Given the description of an element on the screen output the (x, y) to click on. 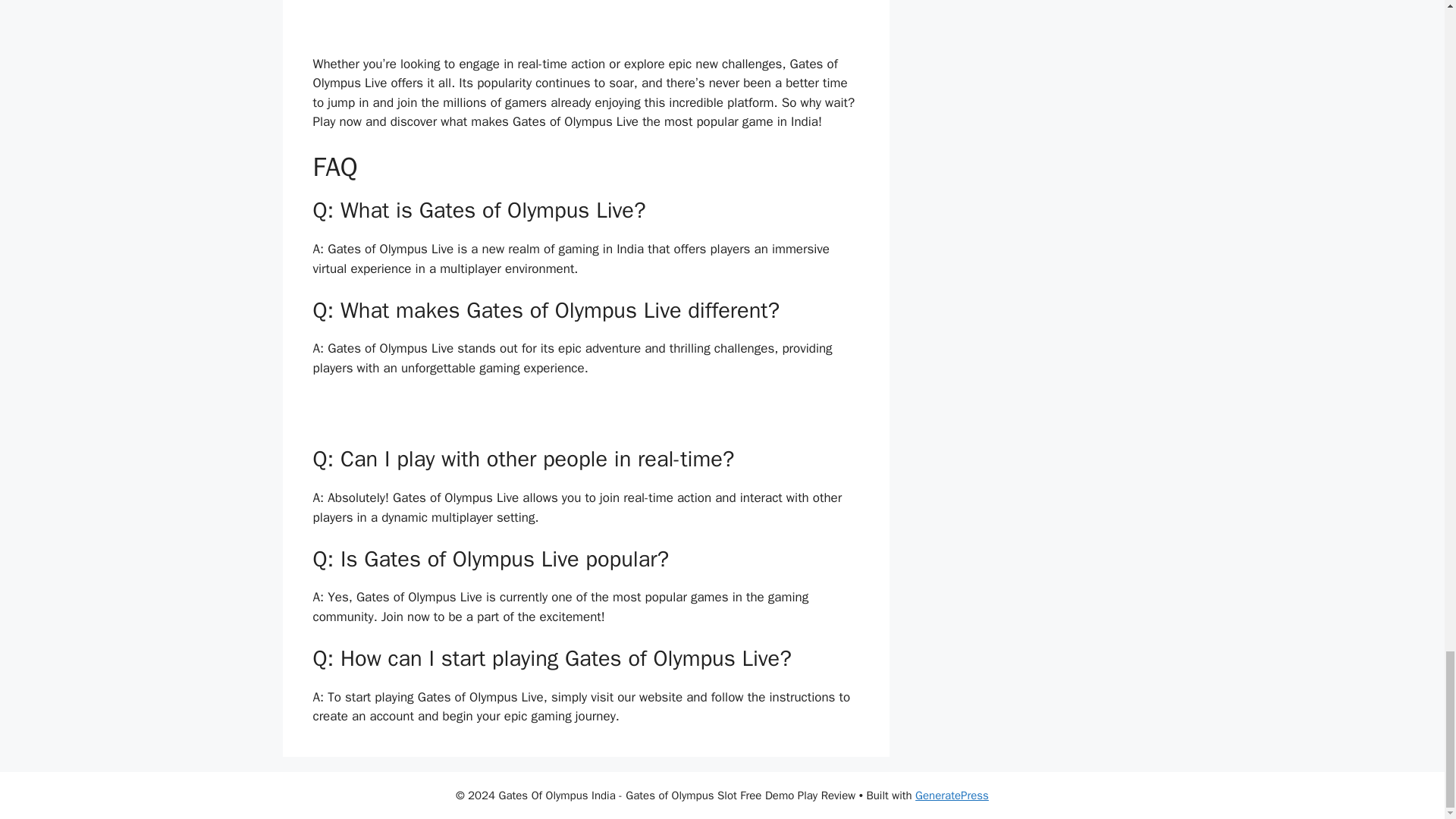
GeneratePress (951, 795)
